Given the description of an element on the screen output the (x, y) to click on. 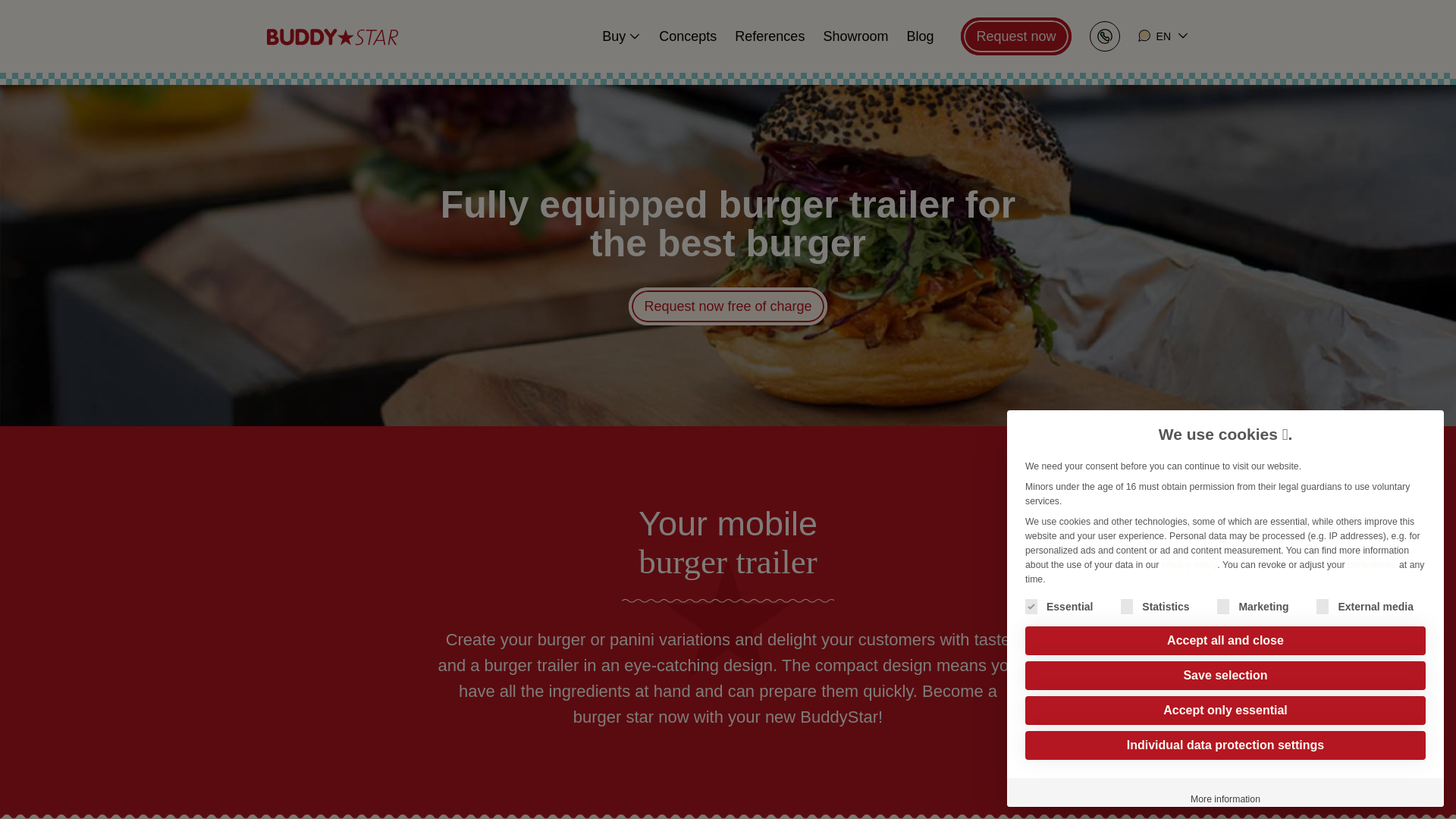
Concepts (687, 35)
References (769, 35)
Blog (919, 35)
Showroom (854, 35)
Request now free of charge (727, 306)
EN (1163, 36)
Buy (620, 35)
Request now (1015, 36)
